Given the description of an element on the screen output the (x, y) to click on. 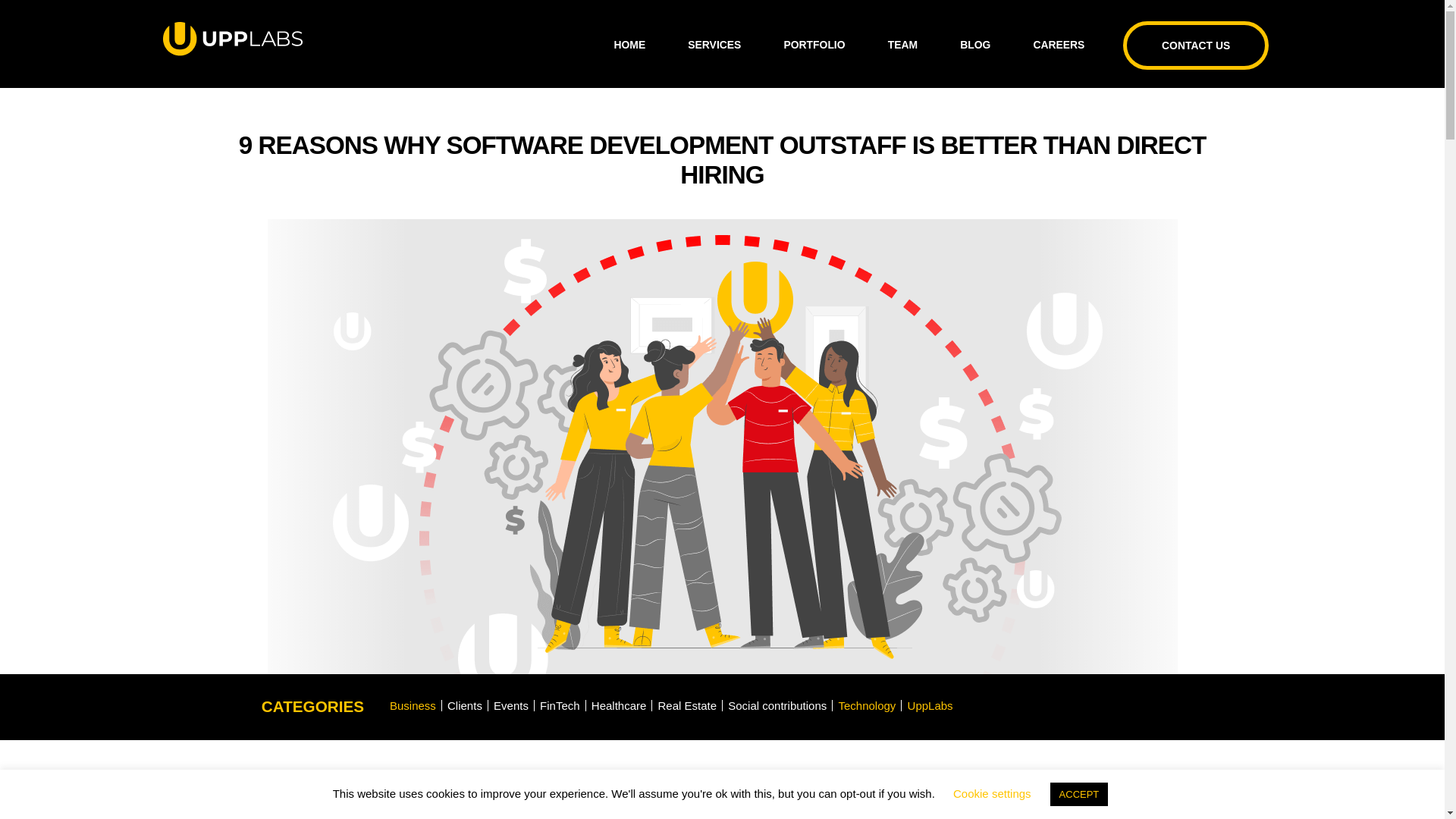
Clients (466, 705)
FinTech (561, 705)
Careers (1058, 44)
HOME (630, 44)
UppLabs (931, 705)
Business (414, 705)
CONTACT US (1195, 45)
Services (714, 44)
Blog (974, 44)
SERVICES (714, 44)
Healthcare (620, 705)
Real Estate (689, 705)
TEAM (902, 44)
Technology (868, 705)
Events (513, 705)
